Given the description of an element on the screen output the (x, y) to click on. 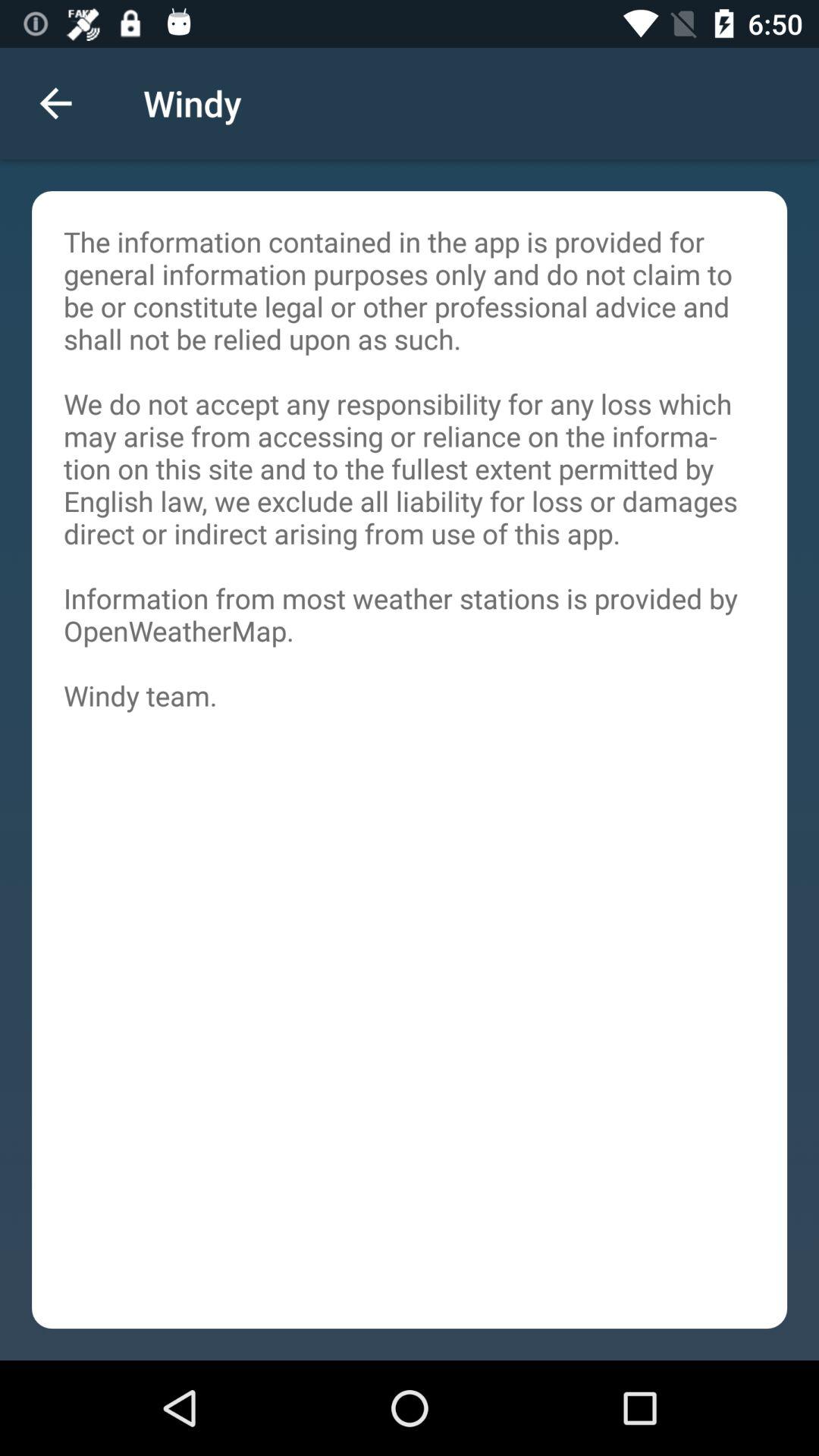
click icon next to windy icon (55, 103)
